Given the description of an element on the screen output the (x, y) to click on. 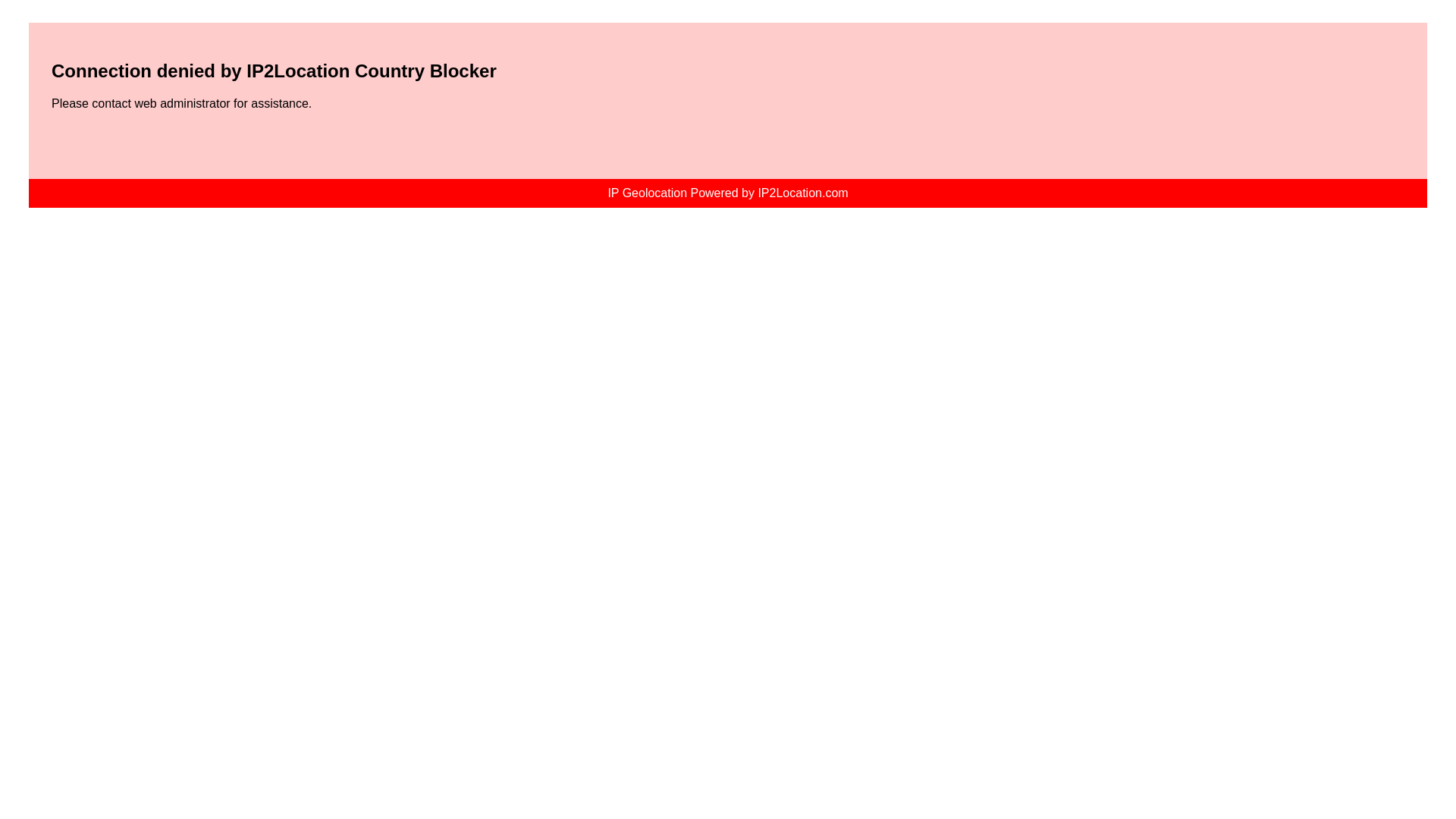
IP Geolocation Powered by IP2Location.com (727, 192)
